Given the description of an element on the screen output the (x, y) to click on. 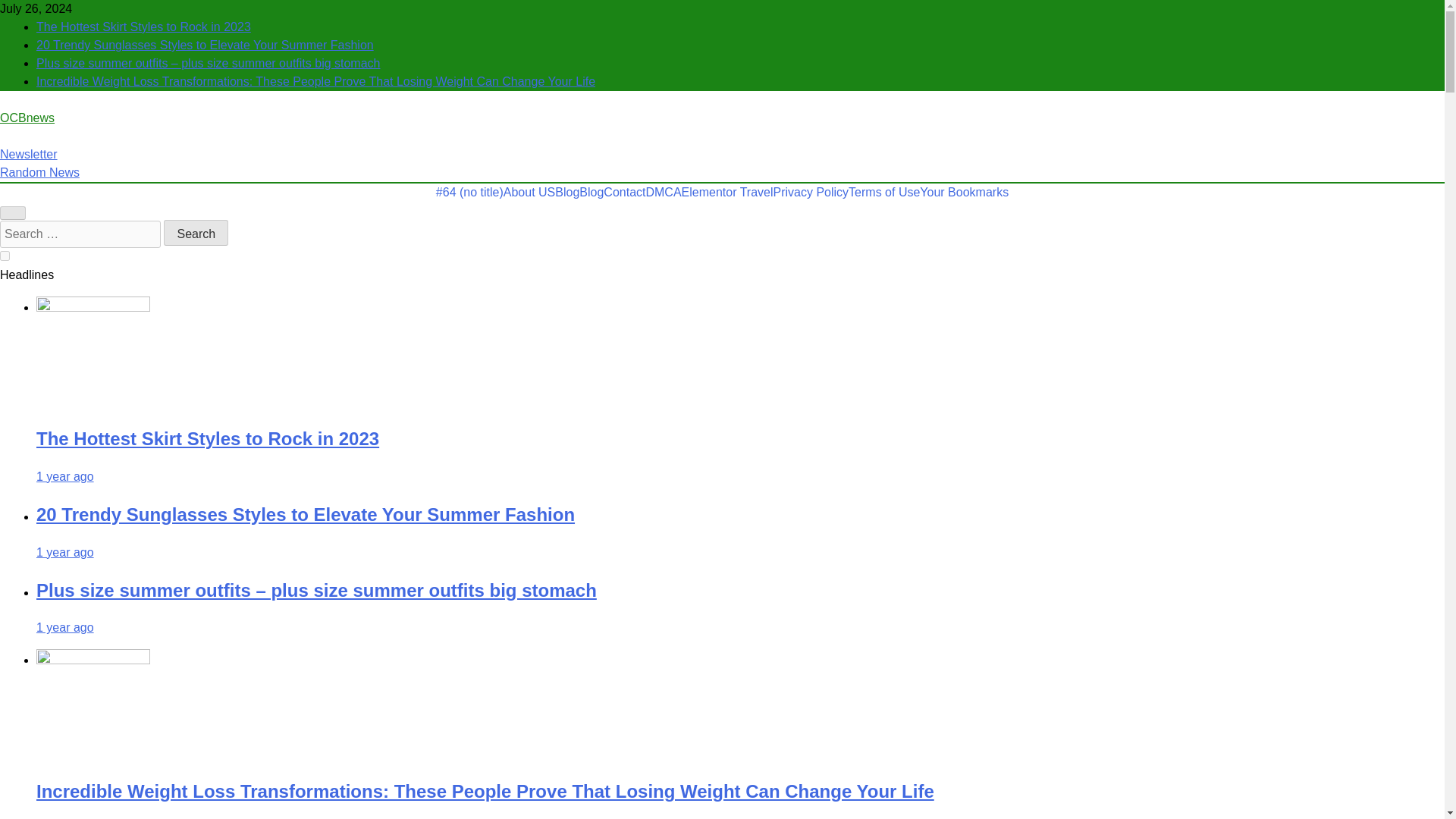
1 year ago (65, 626)
20 Trendy Sunglasses Styles to Elevate Your Summer Fashion (205, 44)
20 Trendy Sunglasses Styles to Elevate Your Summer Fashion (205, 44)
Random News (40, 172)
Terms of Use (884, 192)
Your Bookmarks (964, 192)
20 Trendy Sunglasses Styles to Elevate Your Summer Fashion (305, 514)
OCBnews (27, 117)
1 year ago (65, 552)
Search (195, 232)
Blog (566, 192)
20 Trendy Sunglasses Styles to Elevate Your Summer Fashion (305, 514)
Search (195, 232)
